Given the description of an element on the screen output the (x, y) to click on. 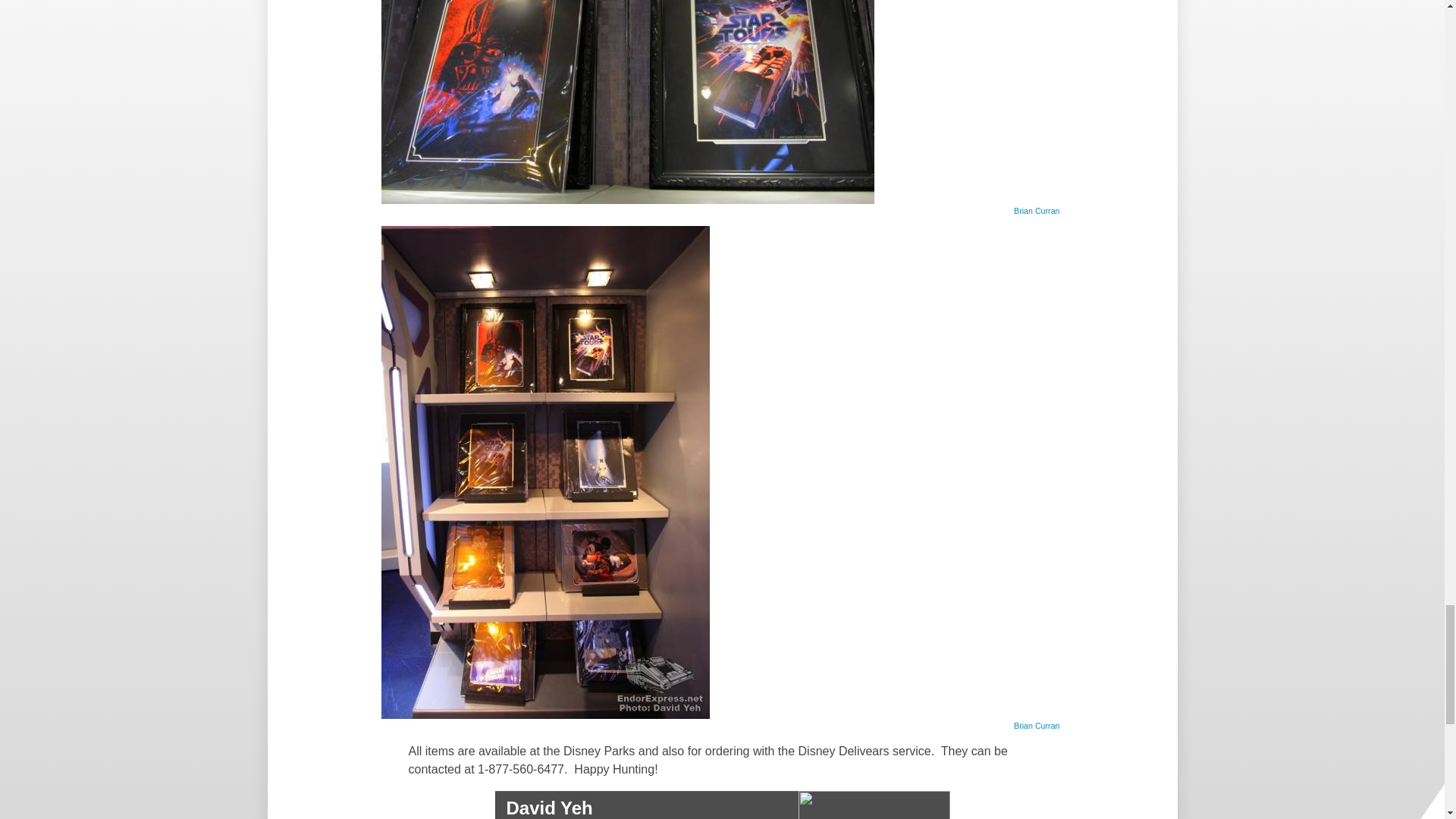
Brian Curran (1036, 724)
Brian Curran (1036, 209)
